Given the description of an element on the screen output the (x, y) to click on. 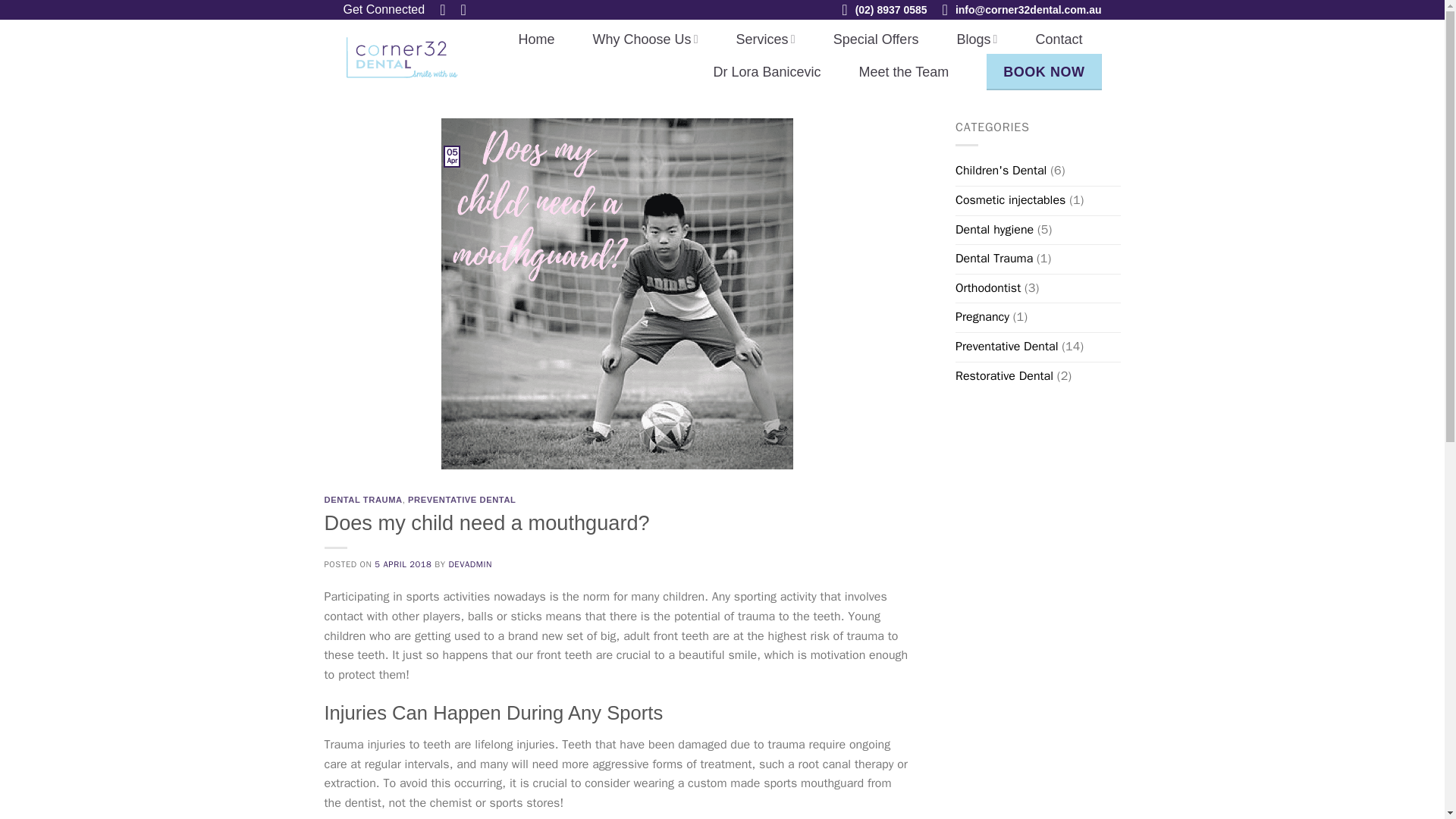
Special Offers (875, 39)
Services (765, 39)
Why Choose Us (645, 39)
Dr Lora Banicevic (767, 71)
Contact (1058, 39)
Home (536, 39)
Blogs (976, 39)
Corner32 (401, 57)
